Given the description of an element on the screen output the (x, y) to click on. 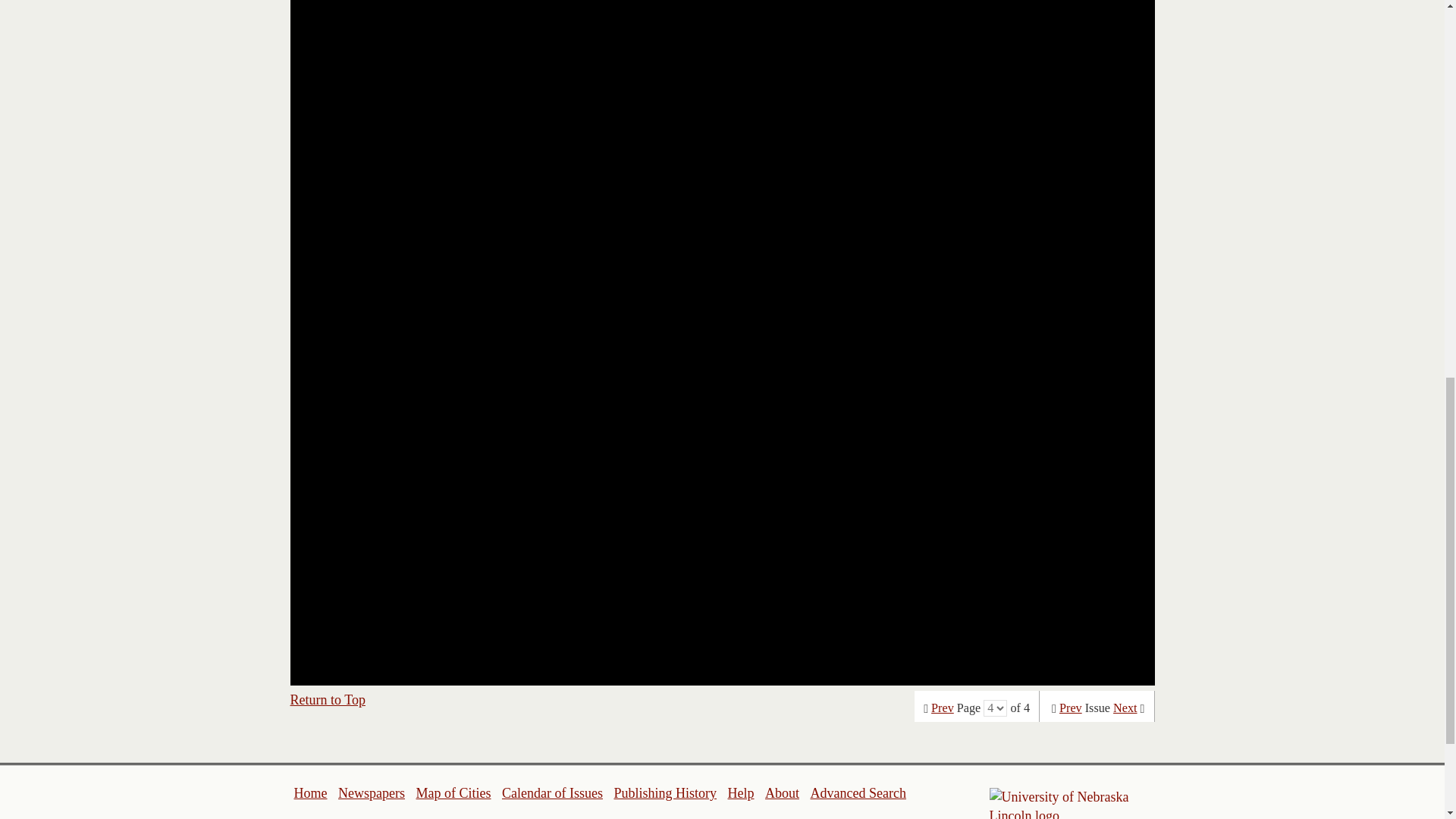
Help (740, 792)
Advanced Search (857, 792)
Publishing History (664, 792)
Next (1125, 707)
Map of Cities (452, 792)
Prev (1070, 707)
Newspapers (370, 792)
About (782, 792)
Calendar of Issues (552, 792)
Prev (942, 707)
